Given the description of an element on the screen output the (x, y) to click on. 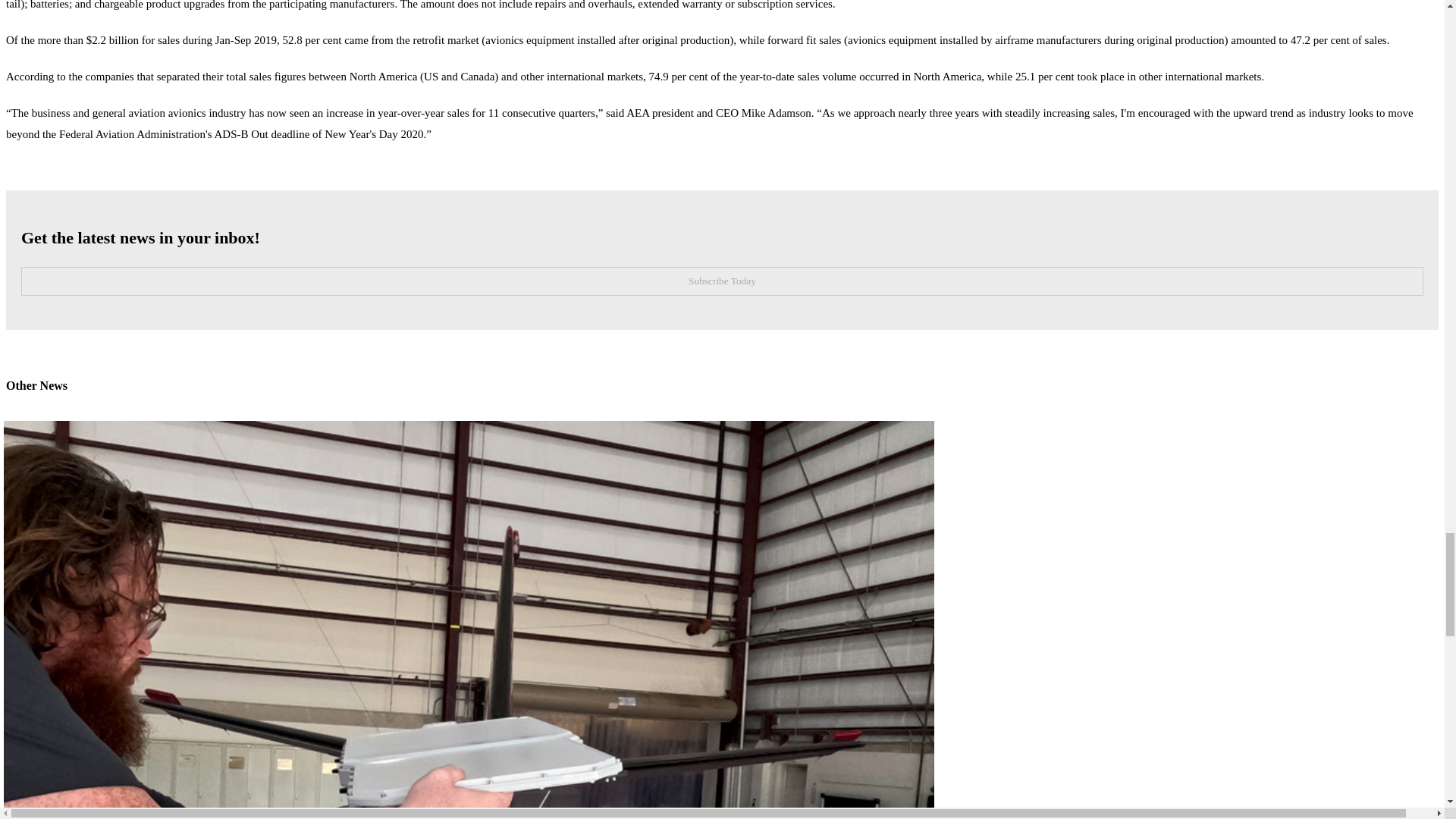
Subscribe Today (722, 280)
